Given the description of an element on the screen output the (x, y) to click on. 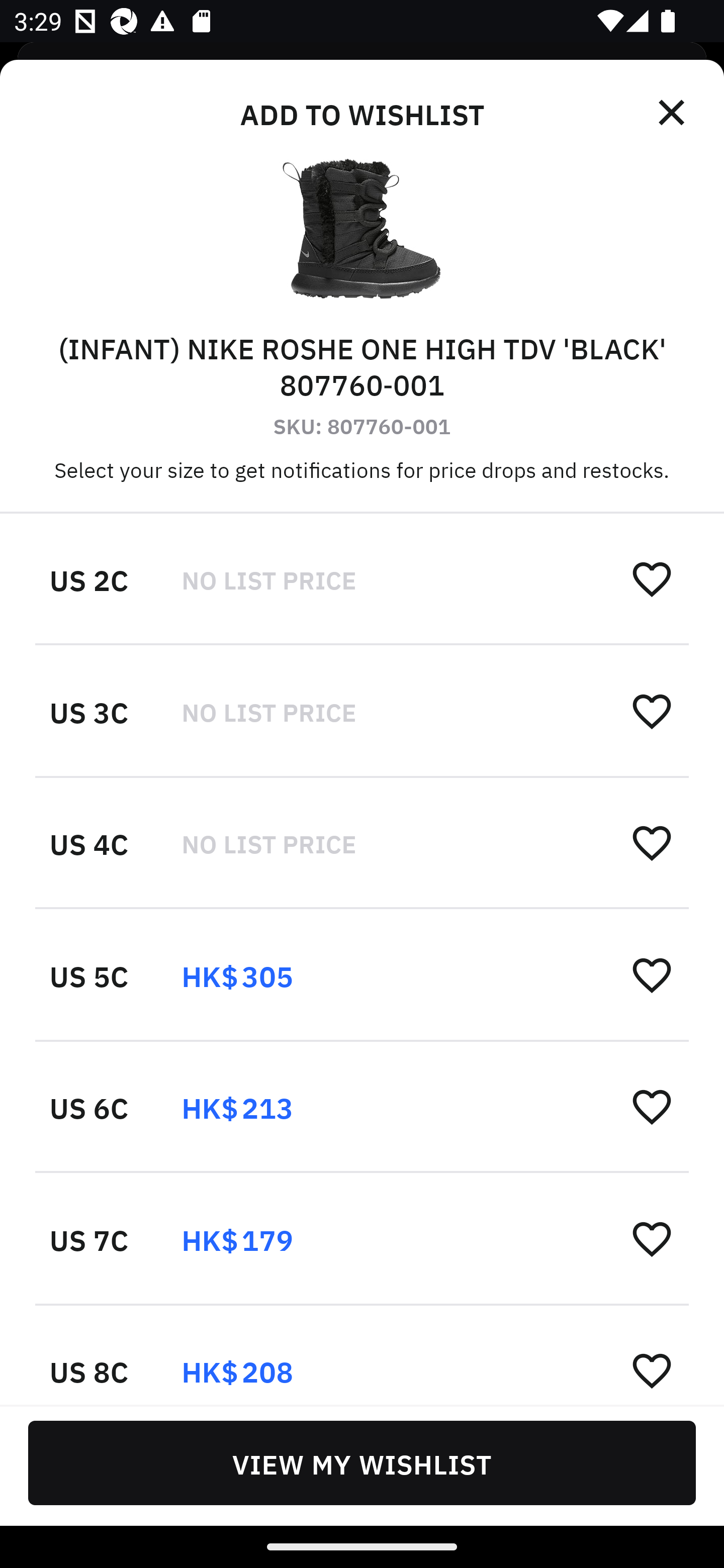
 (672, 112)
󰋕 (651, 578)
󰋕 (651, 710)
󰋕 (651, 842)
󰋕 (651, 974)
󰋕 (651, 1105)
󰋕 (651, 1237)
󰋕 (651, 1369)
VIEW MY WISHLIST (361, 1462)
